Given the description of an element on the screen output the (x, y) to click on. 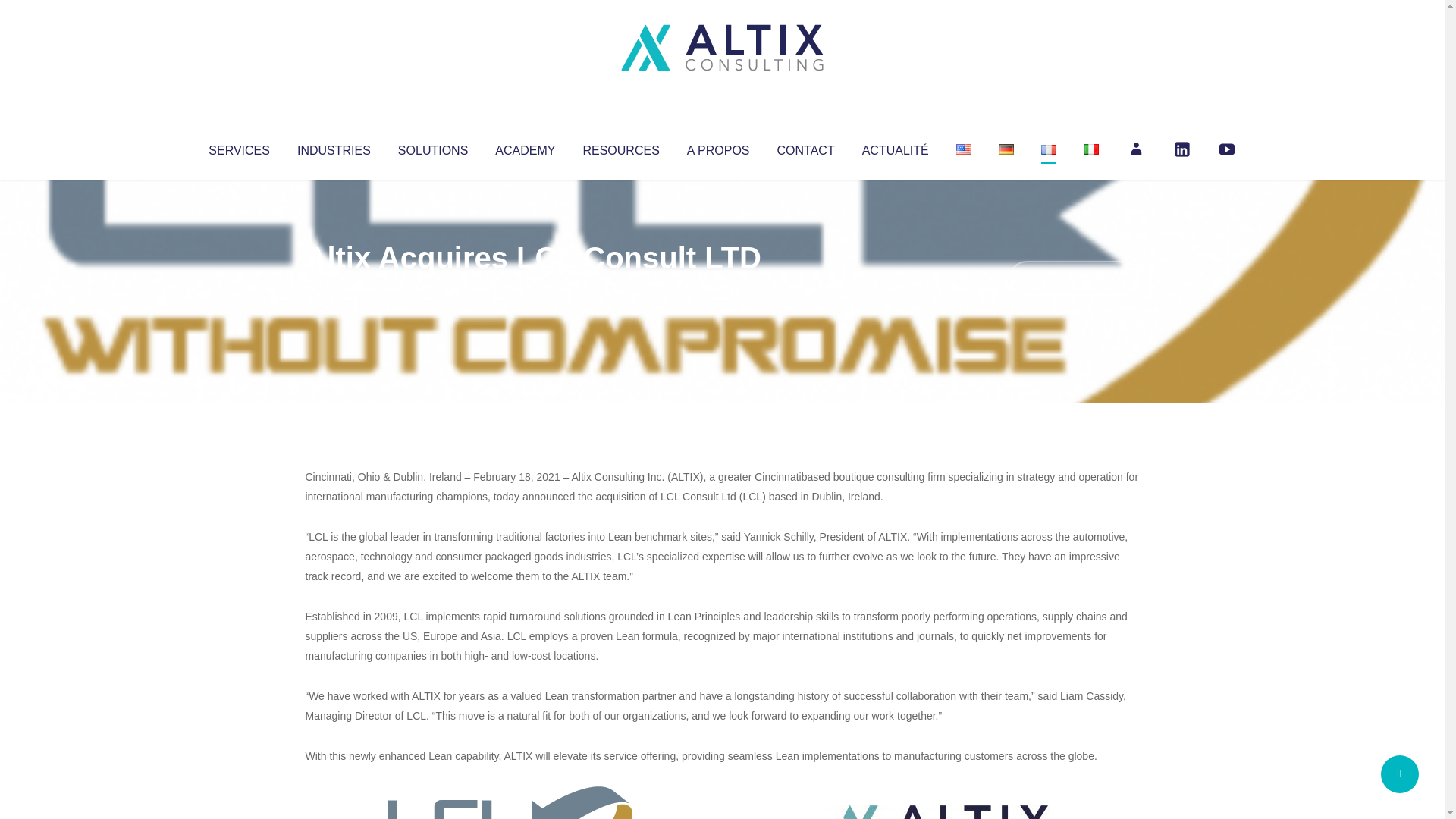
INDUSTRIES (334, 146)
SOLUTIONS (432, 146)
ACADEMY (524, 146)
RESOURCES (620, 146)
Articles par Altix (333, 287)
Altix (333, 287)
A PROPOS (718, 146)
SERVICES (238, 146)
No Comments (1073, 278)
Uncategorized (530, 287)
